Given the description of an element on the screen output the (x, y) to click on. 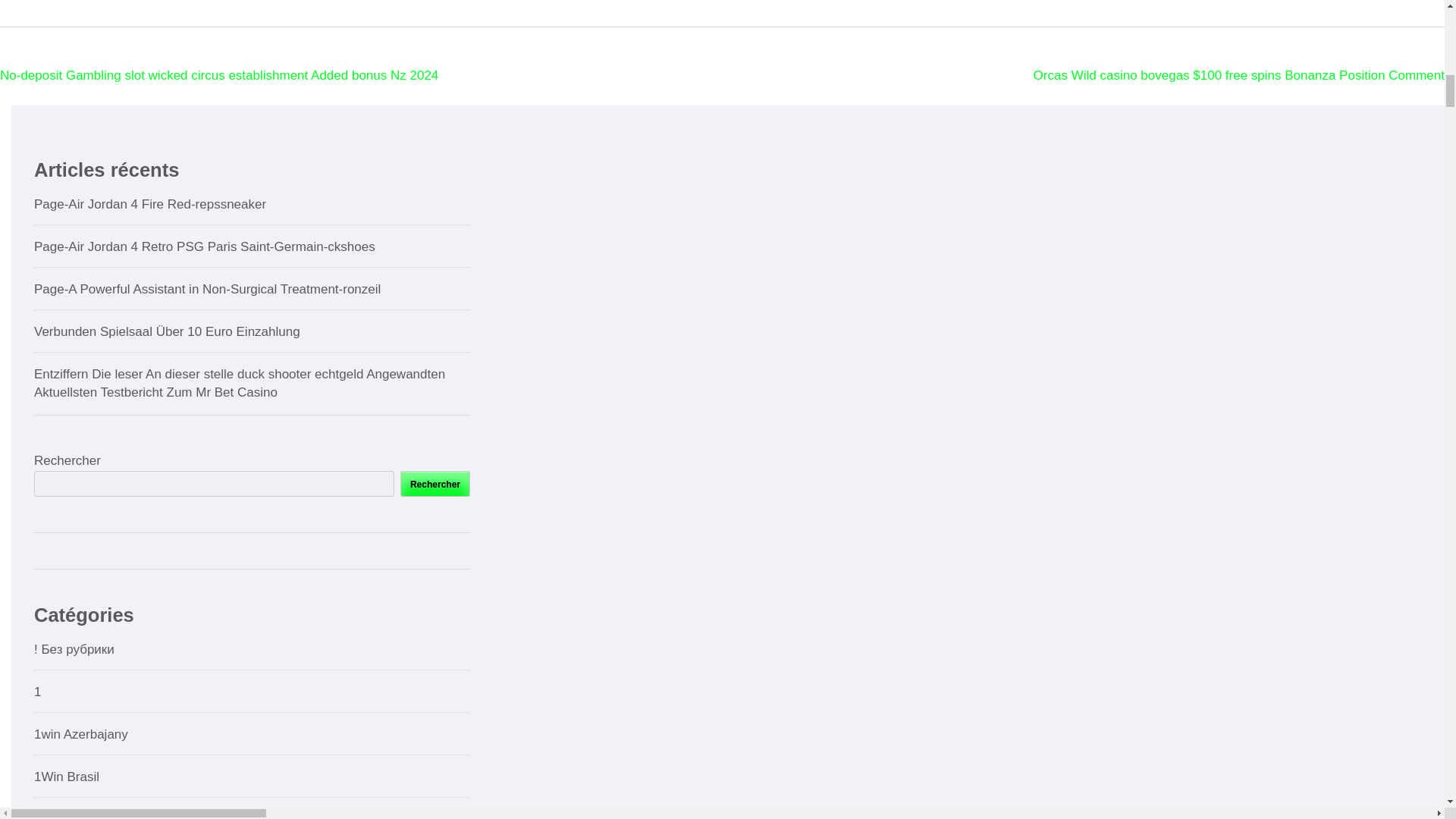
Page-A Powerful Assistant in Non-Surgical Treatment-ronzeil (206, 288)
Rechercher (435, 483)
Page-Air Jordan 4 Retro PSG Paris Saint-Germain-ckshoes (204, 246)
Page-Air Jordan 4 Fire Red-repssneaker (149, 204)
